Given the description of an element on the screen output the (x, y) to click on. 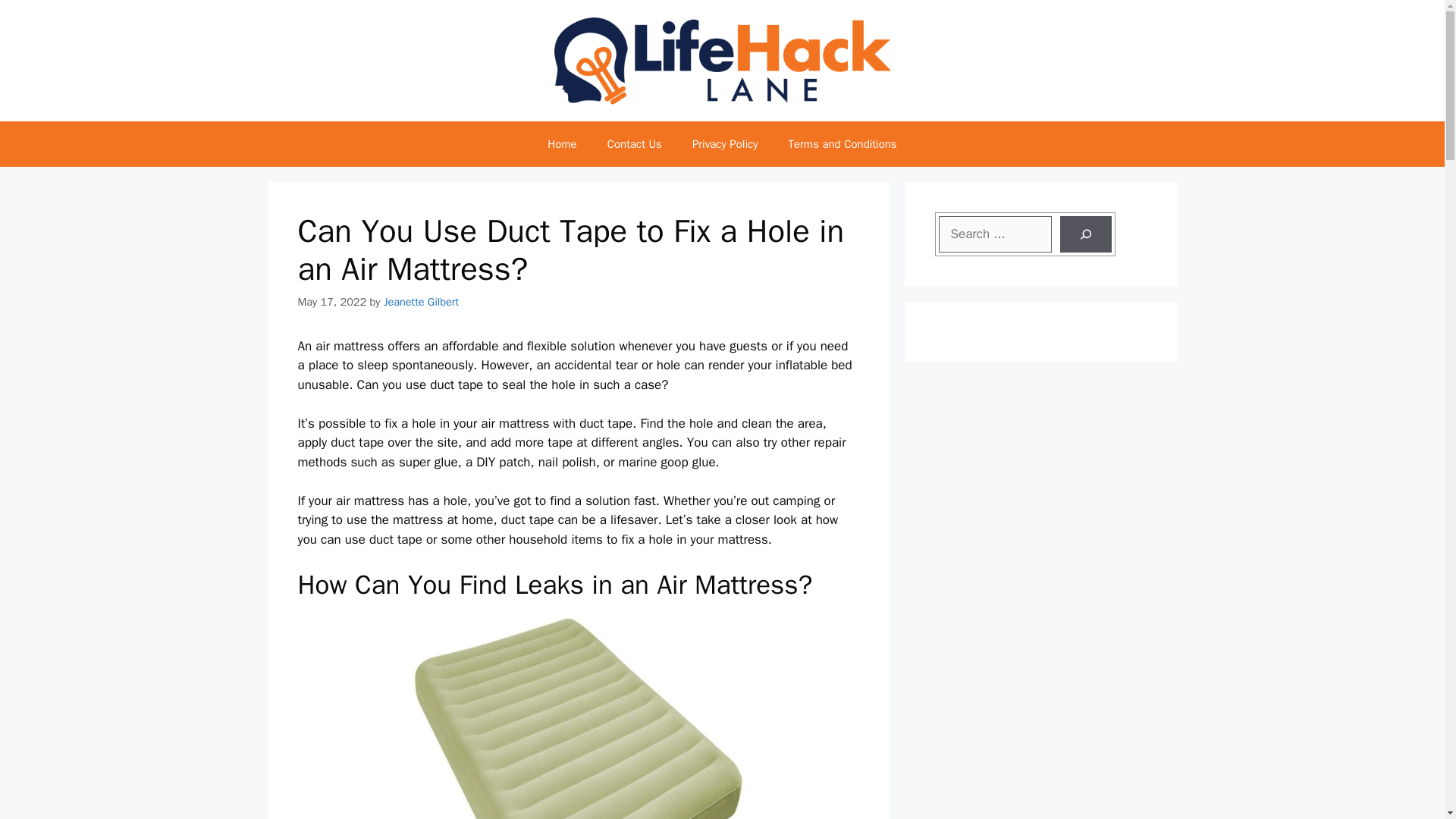
Privacy Policy (725, 144)
Jeanette Gilbert (421, 301)
Contact Us (634, 144)
Home (561, 144)
Terms and Conditions (842, 144)
View all posts by Jeanette Gilbert (421, 301)
